Given the description of an element on the screen output the (x, y) to click on. 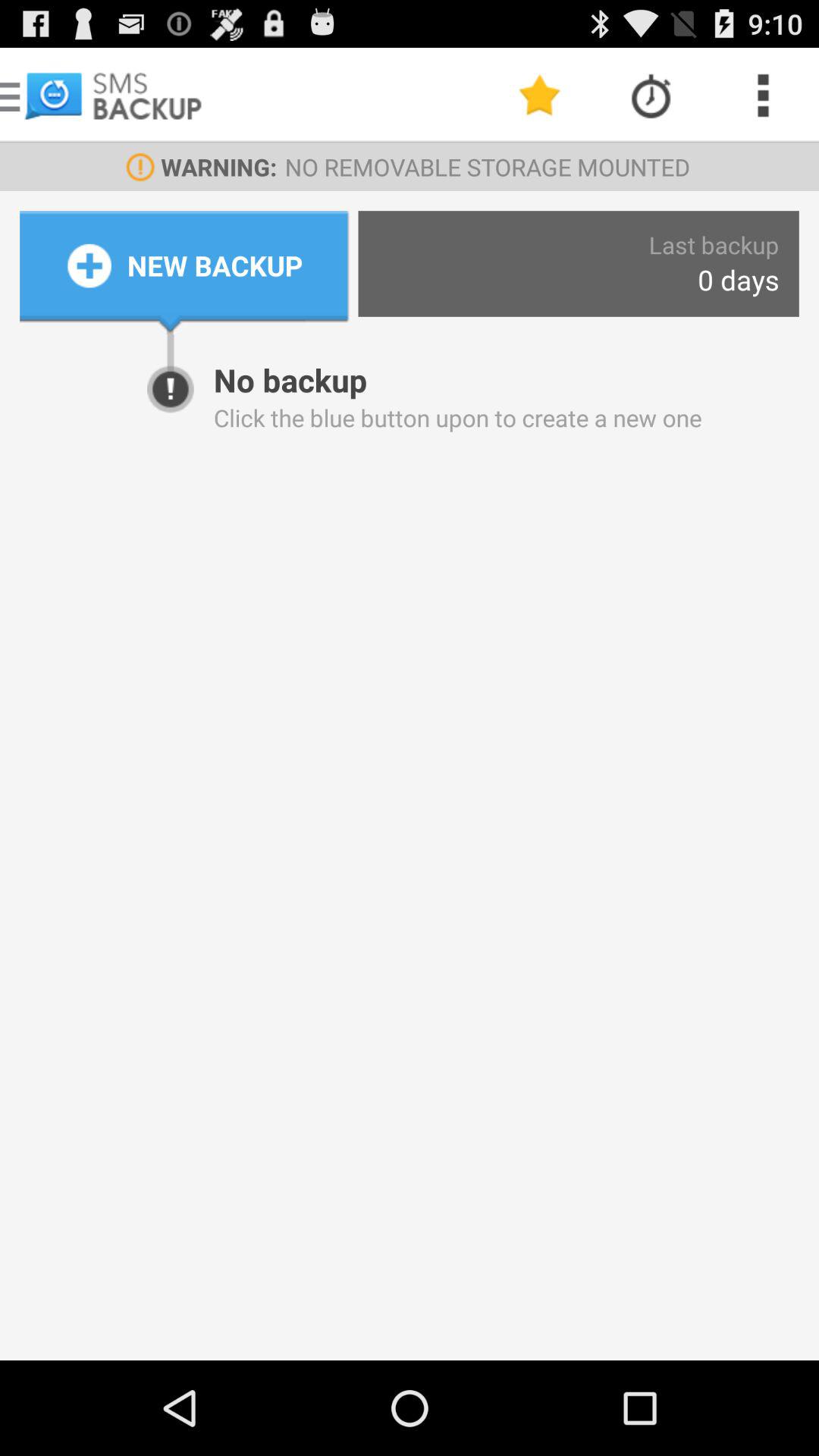
turn on item next to the last backup icon (215, 265)
